Given the description of an element on the screen output the (x, y) to click on. 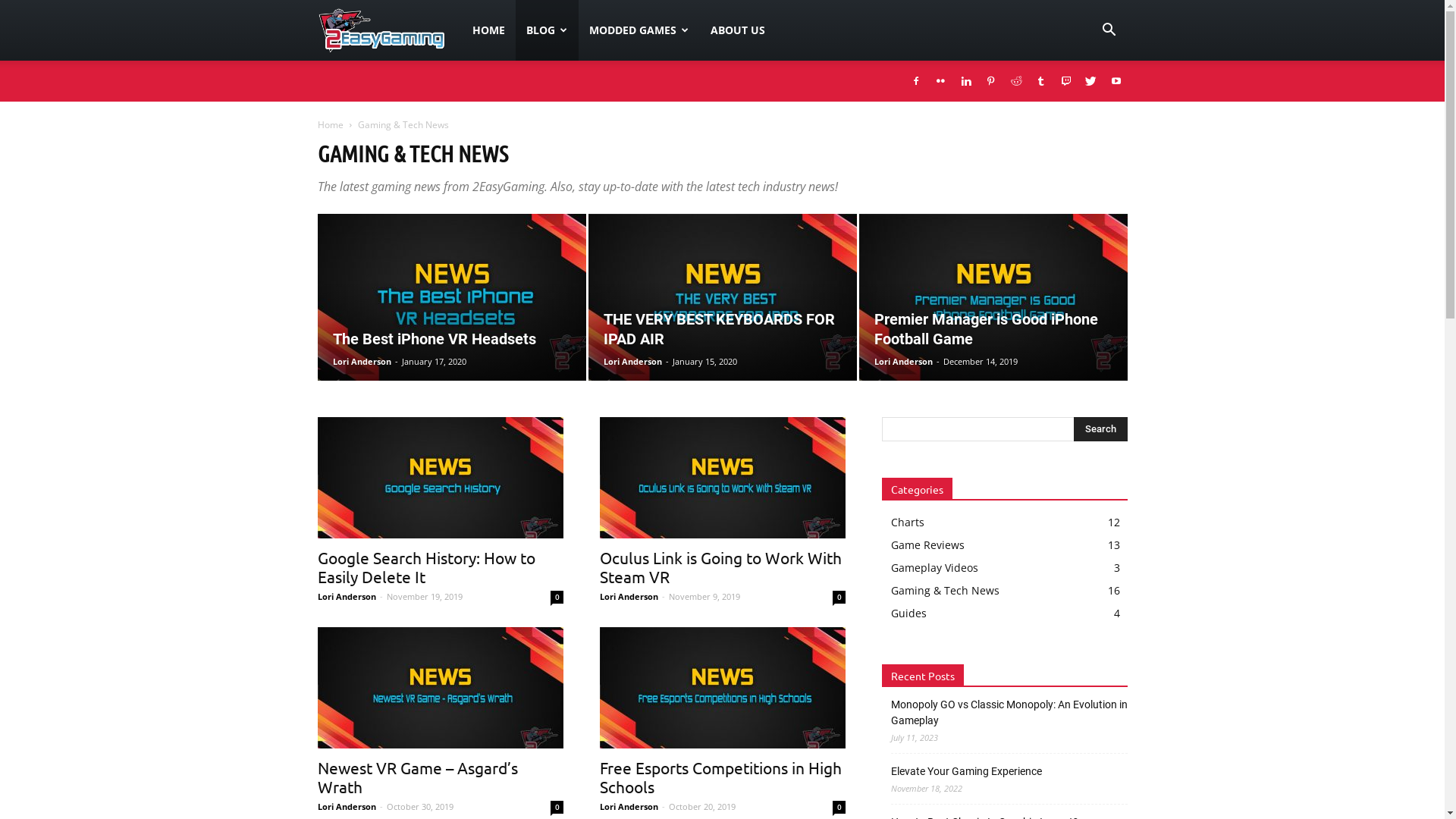
Home Element type: text (329, 124)
THE VERY BEST KEYBOARDS FOR IPAD AIR Element type: hover (722, 296)
Gameplay Videos
3 Element type: text (933, 567)
BLOG Element type: text (546, 30)
Search Element type: text (1085, 103)
Guides
4 Element type: text (907, 612)
Premier Manager is Good  iPhone Football Game Element type: hover (993, 296)
Lori Anderson Element type: text (345, 596)
The Best iPhone VR Headsets Element type: hover (451, 296)
Charts
12 Element type: text (906, 521)
The Best iPhone VR Headsets Element type: text (433, 338)
Premier Manager is Good iPhone Football Game Element type: text (985, 329)
0 Element type: text (556, 806)
HOME Element type: text (488, 30)
Linkedin Element type: hover (964, 80)
Google Search History: How to Easily Delete It Element type: hover (439, 477)
Twitter Element type: hover (1090, 80)
ABOUT US Element type: text (737, 30)
Reddit Element type: hover (1015, 80)
Search Element type: text (1100, 429)
Tumblr Element type: hover (1040, 80)
Game Reviews
13 Element type: text (926, 544)
Pinterest Element type: hover (990, 80)
Lori Anderson Element type: text (628, 596)
Gaming & Tech News
16 Element type: text (944, 590)
The Best iPhone VR Headsets Element type: hover (450, 296)
Free Esports Competitions in High Schools Element type: text (719, 776)
0 Element type: text (838, 596)
Lori Anderson Element type: text (902, 361)
Lori Anderson Element type: text (628, 806)
Google Search History: How to Easily Delete It Element type: text (425, 566)
0 Element type: text (556, 596)
Free Esports Competitions in High Schools Element type: hover (721, 687)
0 Element type: text (838, 806)
Oculus Link is Going to Work With Steam VR Element type: hover (721, 477)
THE VERY BEST KEYBOARDS FOR IPAD AIR Element type: hover (723, 296)
Facebook Element type: hover (914, 80)
Monopoly GO vs Classic Monopoly: An Evolution in Gameplay Element type: text (1008, 712)
Twitch Element type: hover (1065, 80)
Premier Manager is Good  iPhone Football Game Element type: hover (992, 296)
MODDED GAMES Element type: text (638, 30)
Flickr Element type: hover (940, 80)
Lori Anderson Element type: text (345, 806)
Oculus Link is Going to Work With Steam VR Element type: text (719, 566)
Youtube Element type: hover (1115, 80)
Elevate Your Gaming Experience Element type: text (965, 771)
2EasyGaming Element type: text (388, 30)
Lori Anderson Element type: text (632, 361)
THE VERY BEST KEYBOARDS FOR IPAD AIR Element type: text (718, 329)
Lori Anderson Element type: text (361, 361)
